Given the description of an element on the screen output the (x, y) to click on. 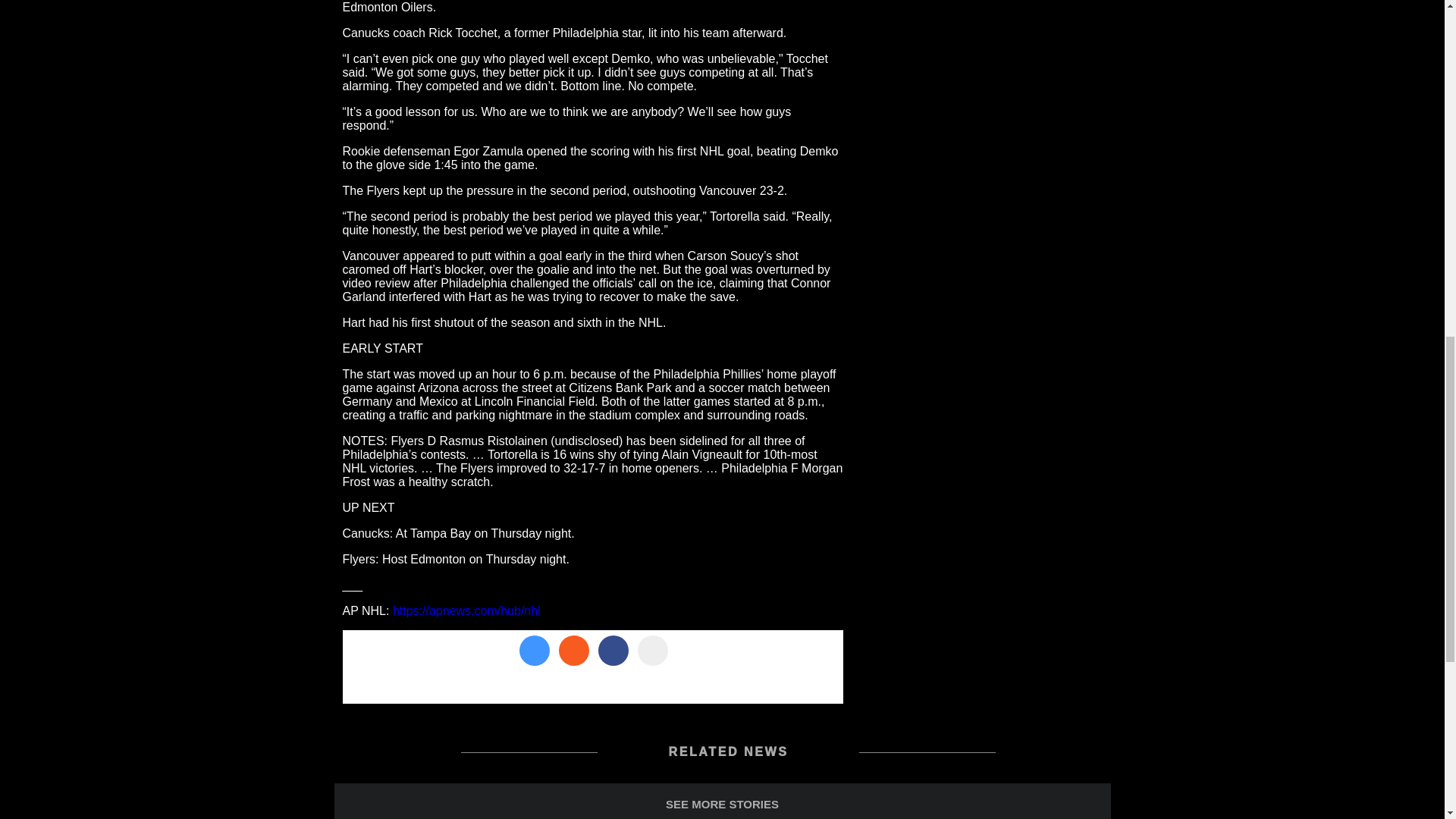
SEE MORE STORIES (721, 800)
Facebook (613, 650)
Email (652, 650)
Reddit (574, 650)
Twitter (534, 650)
